Given the description of an element on the screen output the (x, y) to click on. 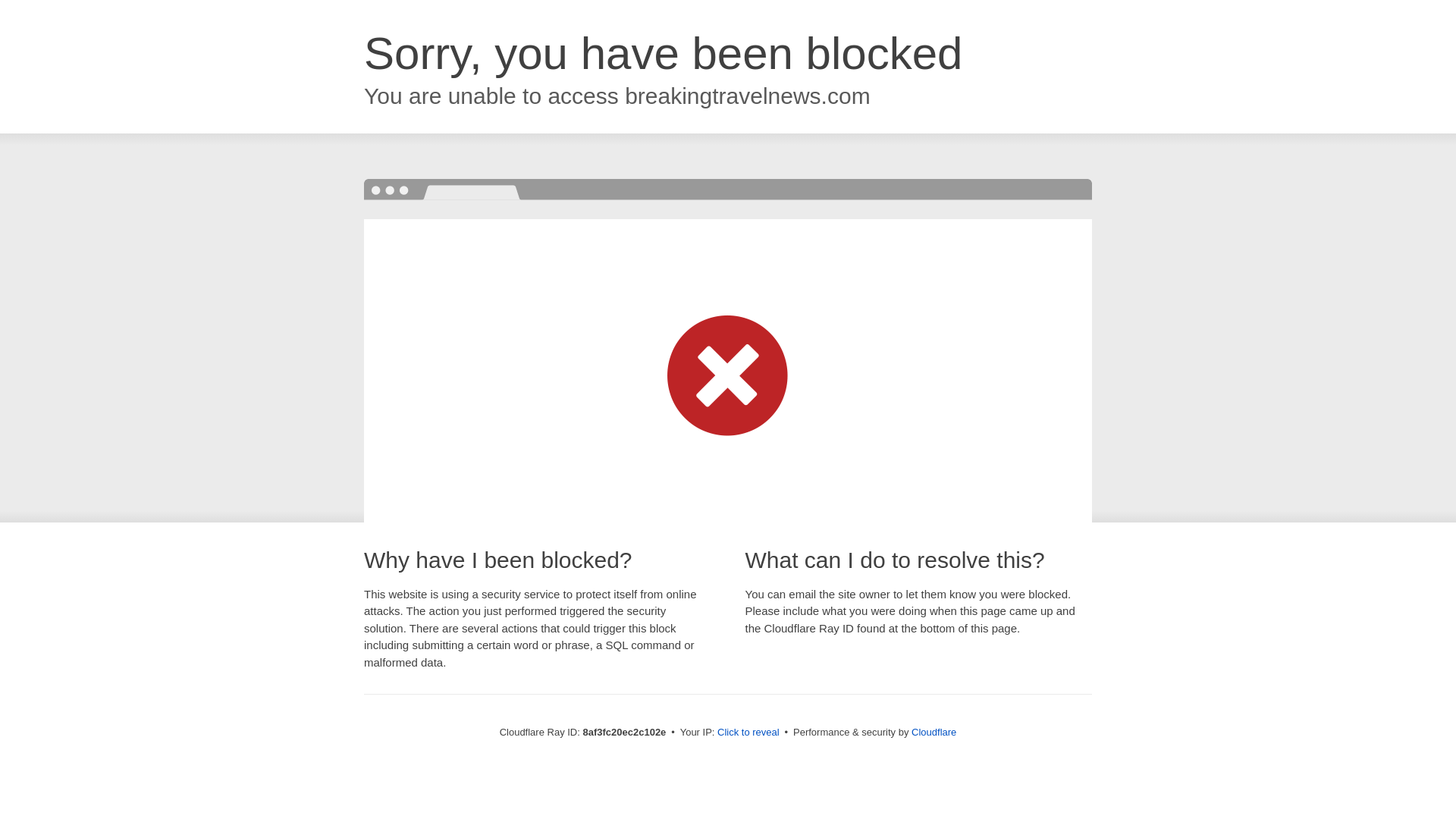
Cloudflare (933, 731)
Click to reveal (747, 732)
